Given the description of an element on the screen output the (x, y) to click on. 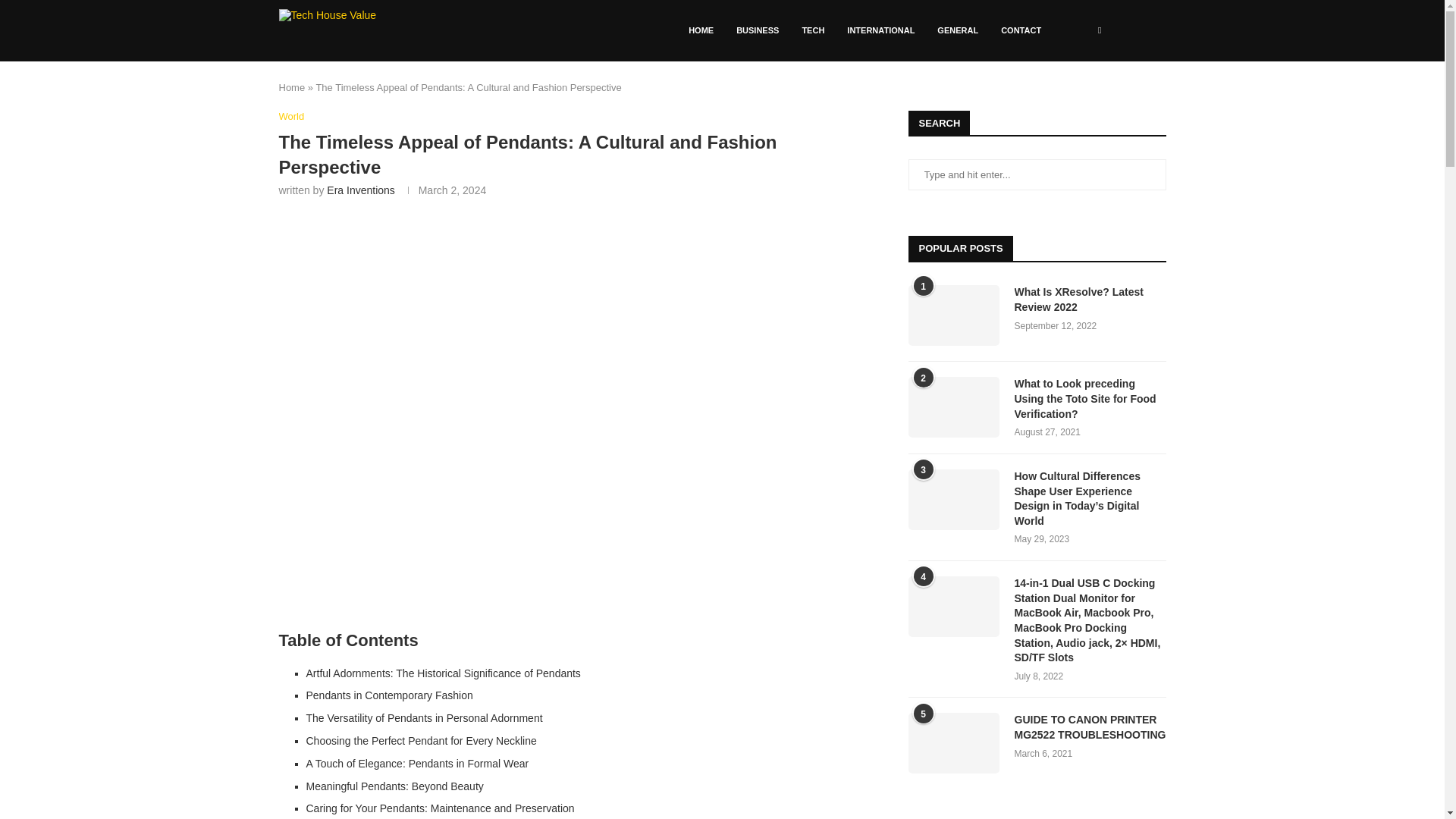
GENERAL (958, 30)
INTERNATIONAL (880, 30)
Home (292, 87)
What Is XResolve? Latest Review 2022 (1090, 299)
BUSINESS (757, 30)
Era Inventions (360, 190)
World (291, 116)
